Given the description of an element on the screen output the (x, y) to click on. 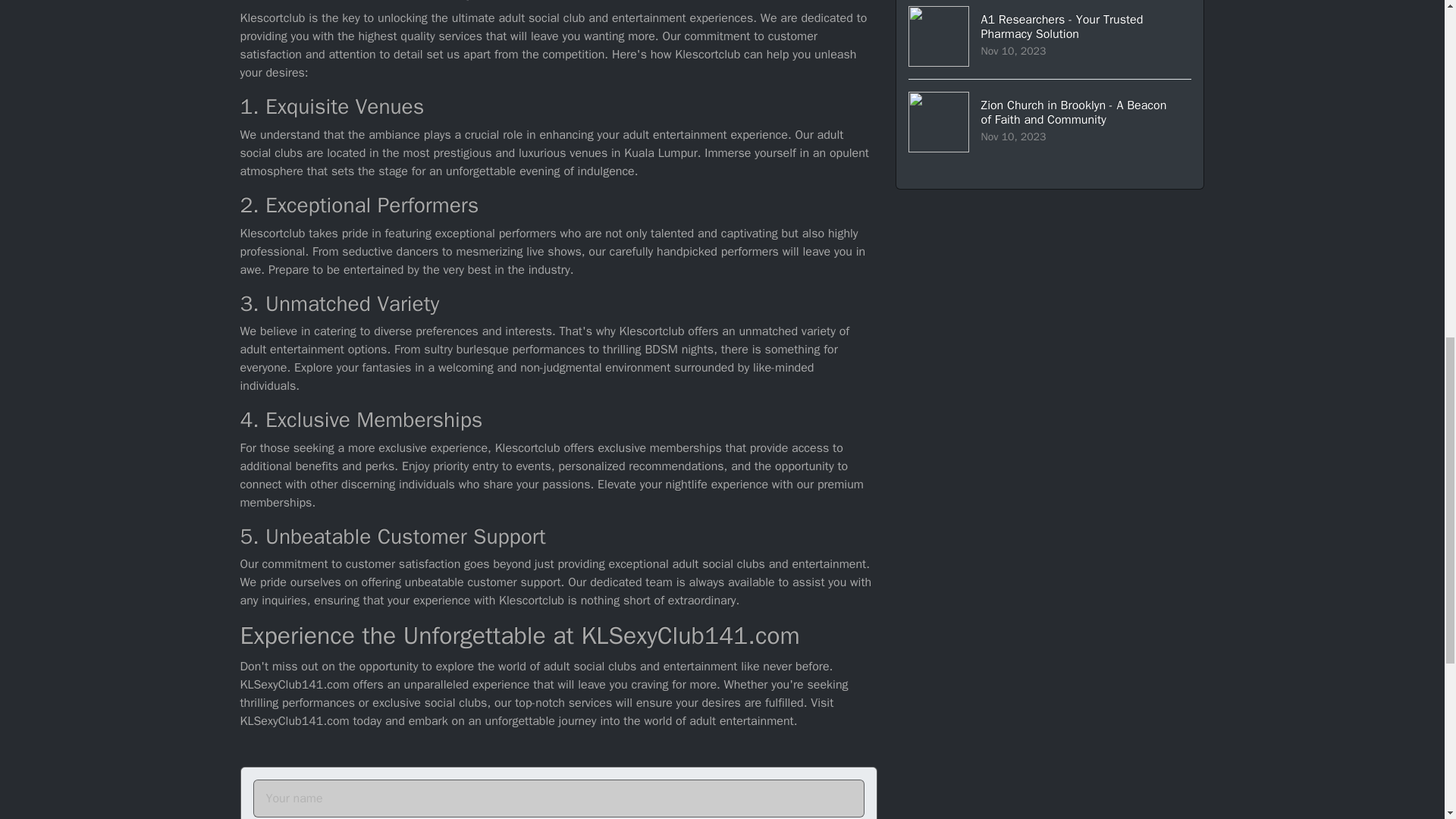
Klescortclub (357, 2)
